Given the description of an element on the screen output the (x, y) to click on. 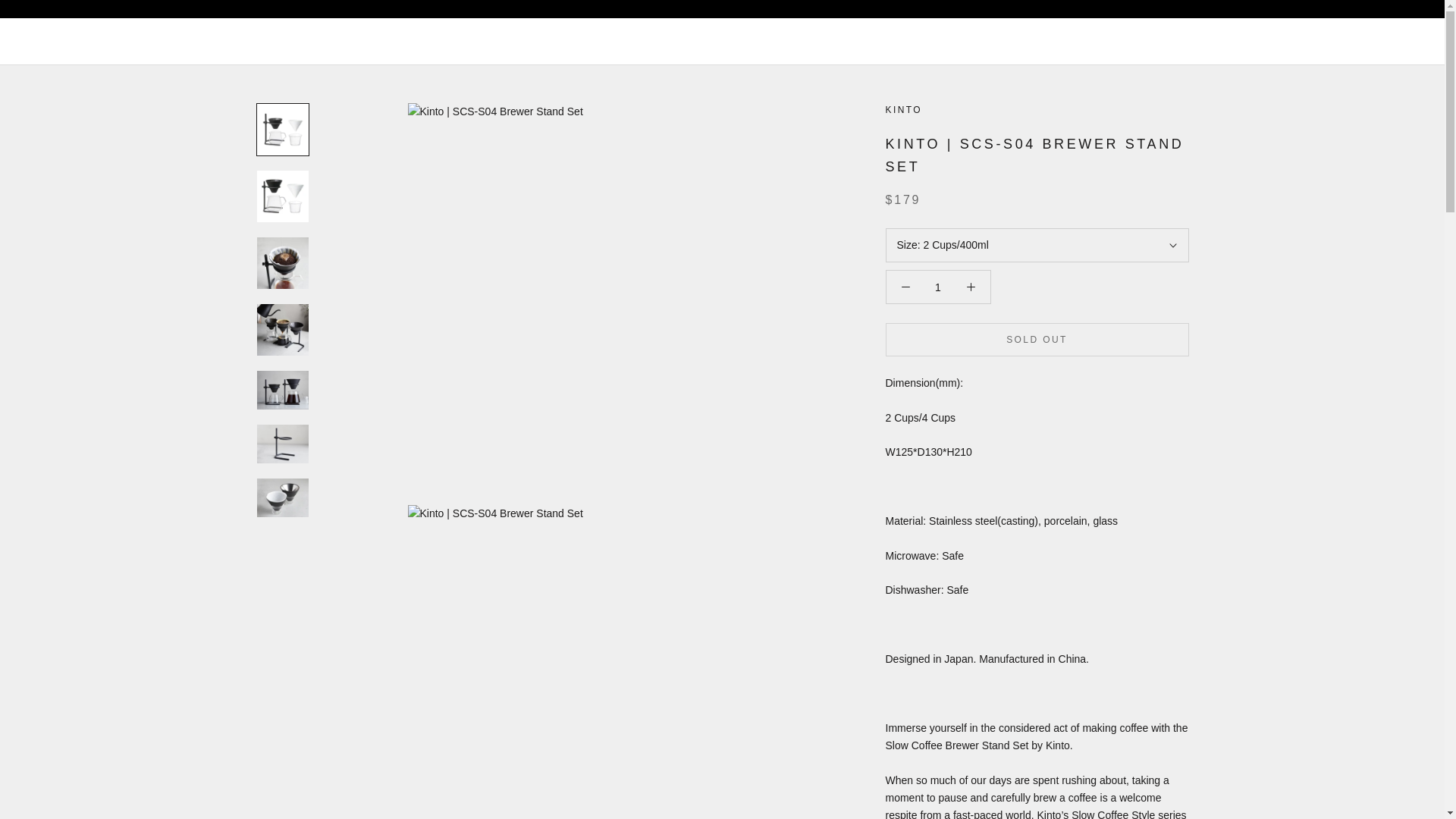
1 (938, 287)
